Given the description of an element on the screen output the (x, y) to click on. 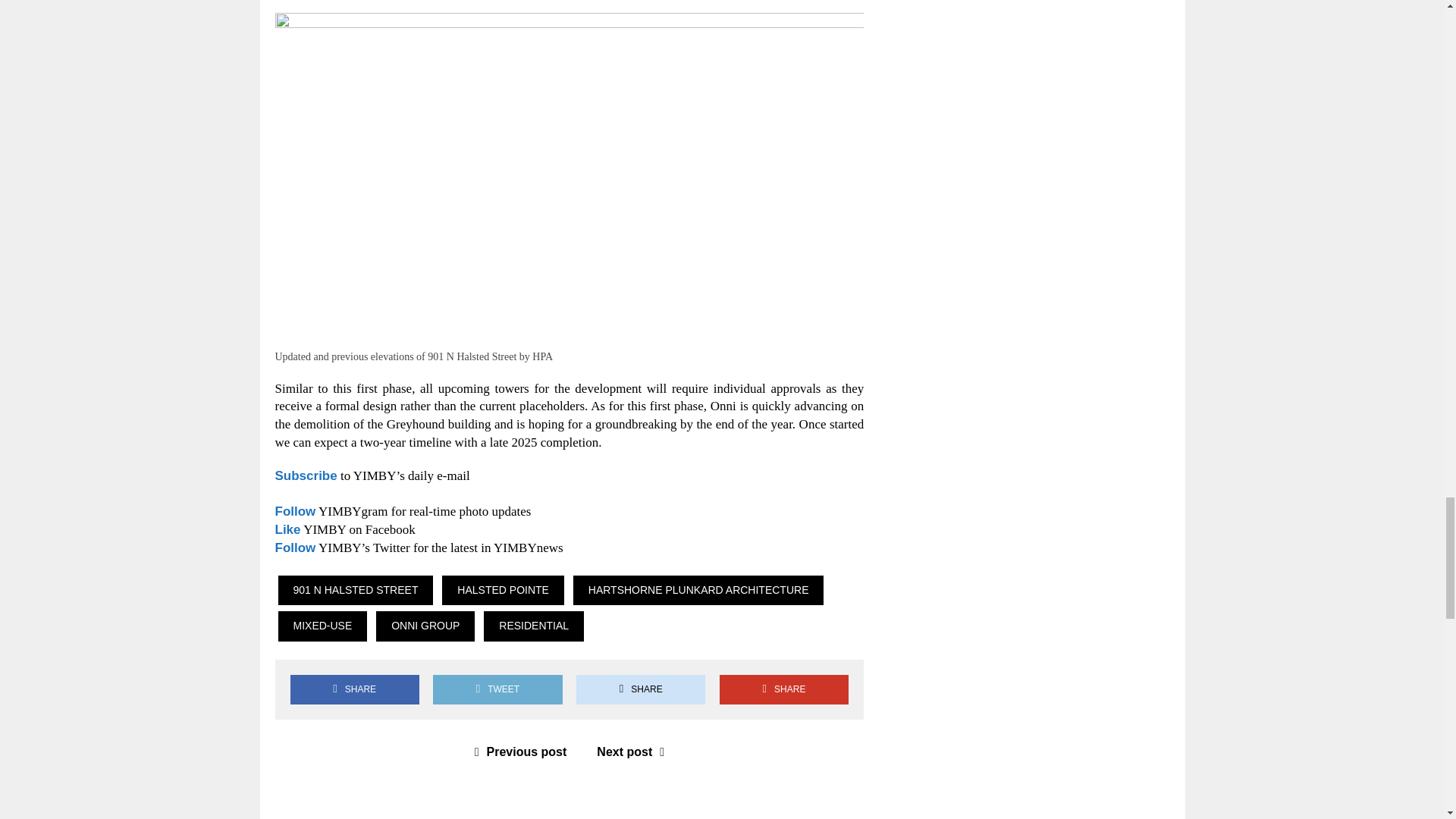
SHARE (354, 689)
Like (287, 529)
Share on Facebook (354, 689)
TWEET (497, 689)
Reddit This Post (640, 689)
901 N HALSTED STREET (355, 590)
Subscribe (305, 475)
MIXED-USE (322, 625)
HARTSHORNE PLUNKARD ARCHITECTURE (698, 590)
HALSTED POINTE (503, 590)
